Given the description of an element on the screen output the (x, y) to click on. 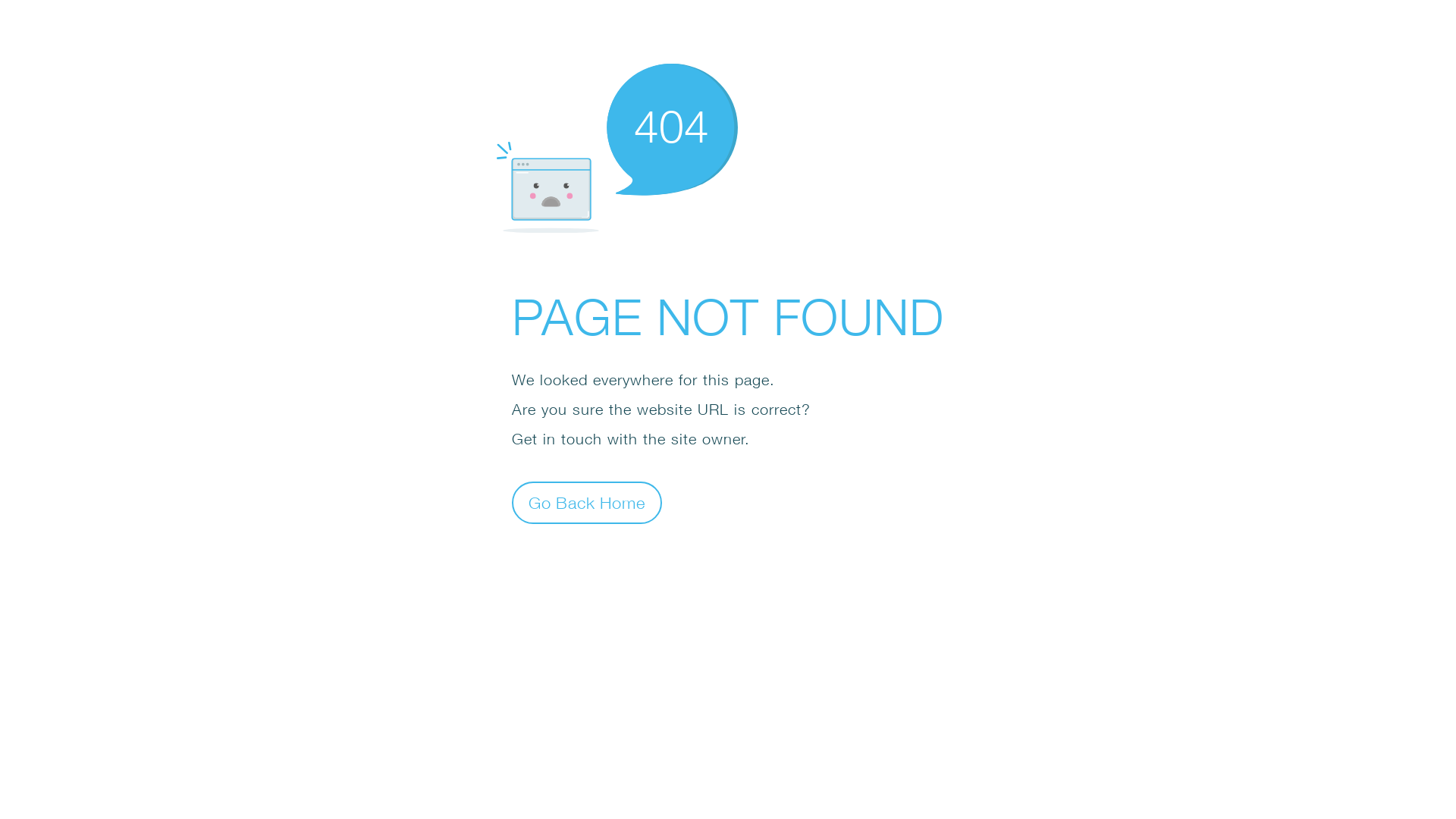
Go Back Home Element type: text (586, 502)
